Given the description of an element on the screen output the (x, y) to click on. 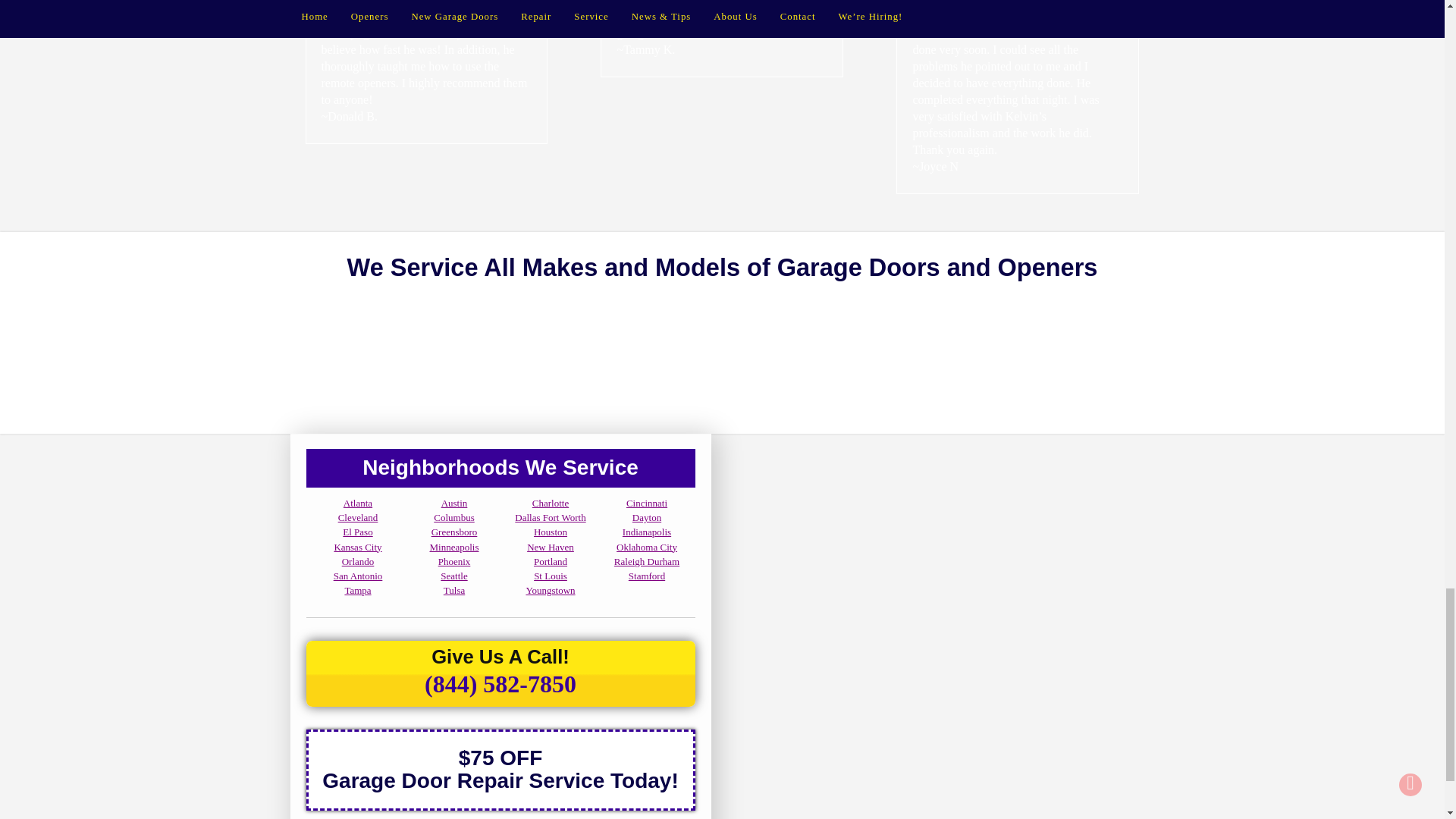
Atlanta (357, 502)
Austin (454, 502)
Charlotte (550, 502)
